Given the description of an element on the screen output the (x, y) to click on. 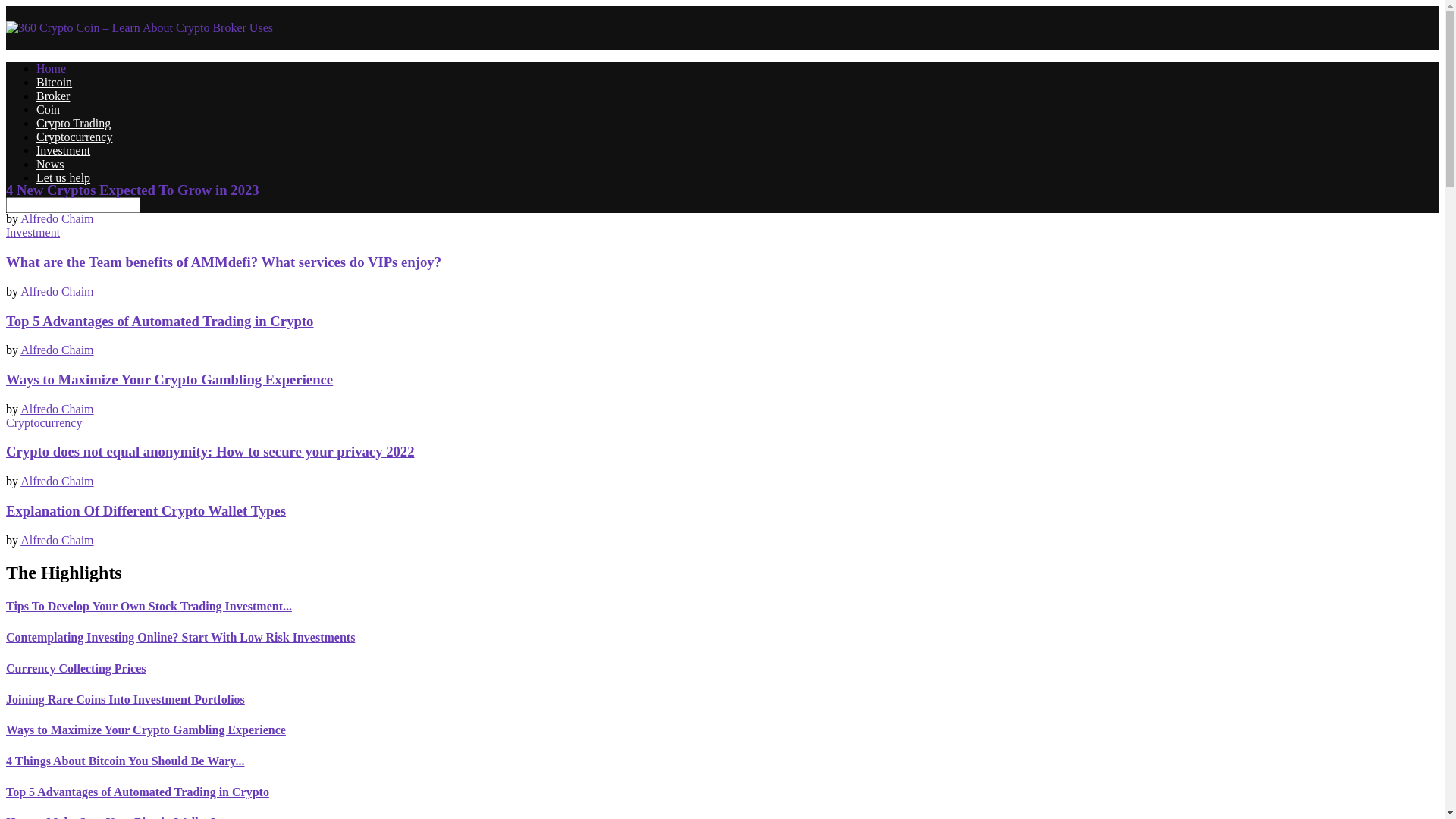
Top 5 Advantages of Automated Trading in Crypto Element type: text (159, 321)
Investment Element type: text (63, 150)
Explanation Of Different Crypto Wallet Types Element type: text (145, 510)
Joining Rare Coins Into Investment Portfolios Element type: text (125, 699)
Cryptocurrency Element type: text (43, 422)
Cryptocurrency Element type: text (74, 136)
Alfredo Chaim Element type: text (56, 291)
4 Things About Bitcoin You Should Be Wary... Element type: text (125, 760)
Tips To Develop Your Own Stock Trading Investment... Element type: text (148, 605)
Investment Element type: text (32, 231)
Ways to Maximize Your Crypto Gambling Experience Element type: text (145, 729)
Ways to Maximize Your Crypto Gambling Experience Element type: text (169, 379)
Alfredo Chaim Element type: text (56, 539)
4 New Cryptos Expected To Grow in 2023 Element type: text (132, 189)
Bitcoin Element type: text (54, 81)
Currency Collecting Prices Element type: text (76, 668)
Alfredo Chaim Element type: text (56, 408)
Home Element type: text (50, 68)
Alfredo Chaim Element type: text (56, 349)
Broker Element type: text (52, 95)
Alfredo Chaim Element type: text (56, 218)
Coin Element type: text (47, 109)
Alfredo Chaim Element type: text (56, 480)
News Element type: text (49, 163)
Let us help Element type: text (63, 177)
Top 5 Advantages of Automated Trading in Crypto Element type: text (137, 791)
Crypto Trading Element type: text (73, 122)
